Given the description of an element on the screen output the (x, y) to click on. 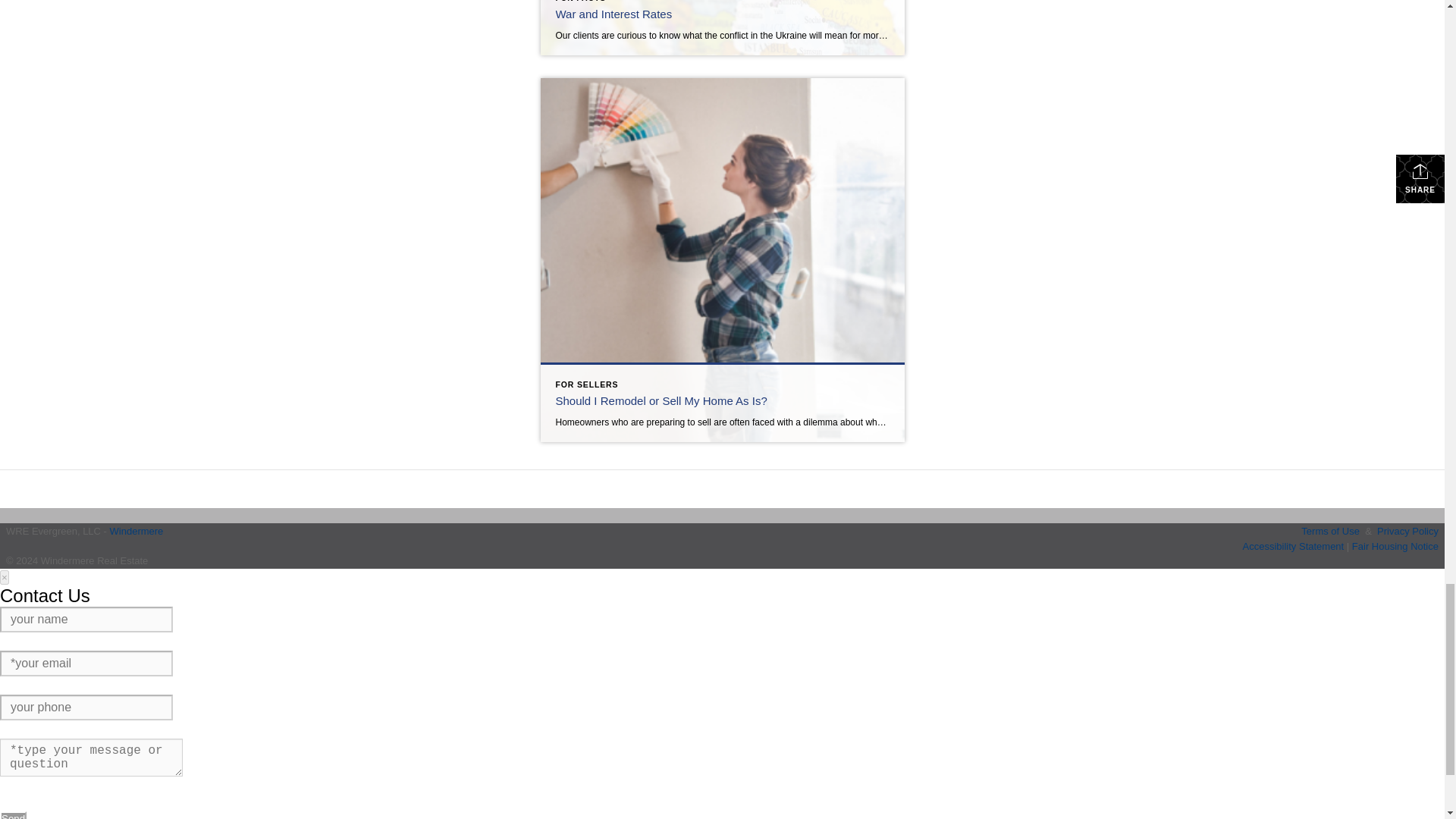
Windermere (136, 531)
